Given the description of an element on the screen output the (x, y) to click on. 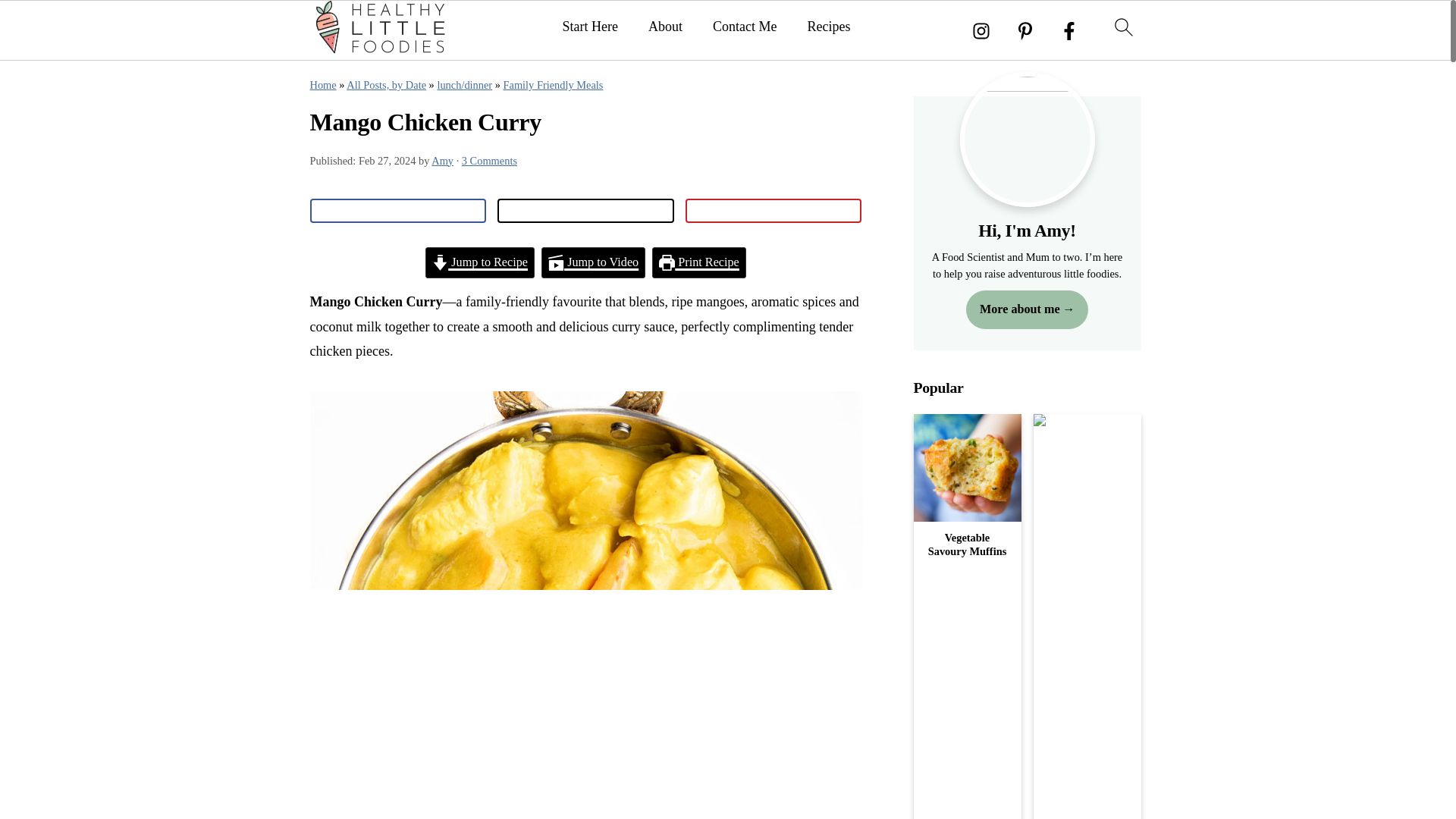
Contact Me (744, 27)
All Posts, by Date (386, 84)
Start Here (589, 27)
Share on X (585, 210)
Family Friendly Meals (553, 84)
Jump to Recipe (479, 262)
Share on Facebook (397, 210)
Home (322, 84)
About (664, 27)
Amy (441, 160)
3 Comments (488, 160)
search icon (1122, 26)
Recipes (828, 27)
Save to Pinterest (773, 210)
